Given the description of an element on the screen output the (x, y) to click on. 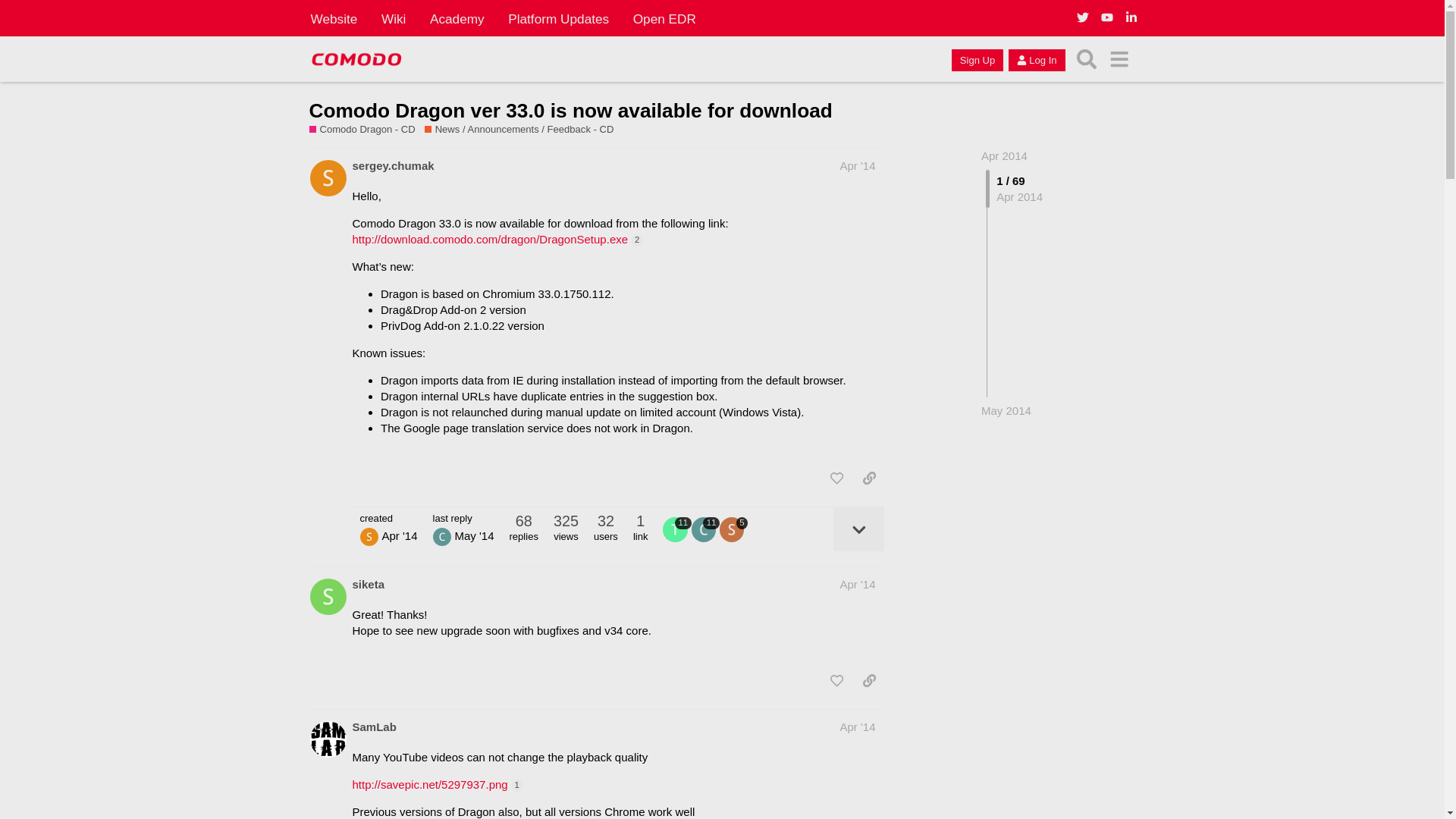
Academy (456, 18)
Search (1086, 59)
11 (705, 528)
Academy (456, 18)
Apr '14 (857, 164)
Platform Updates (558, 18)
Apr '14 (857, 584)
Apr 2014 (1004, 155)
Browse the web safe and secure (367, 129)
Sign Up (977, 60)
May 2014 (1005, 410)
Website (333, 18)
menu (1119, 59)
Website (333, 18)
Comodo Dragon - CD (361, 129)
